Given the description of an element on the screen output the (x, y) to click on. 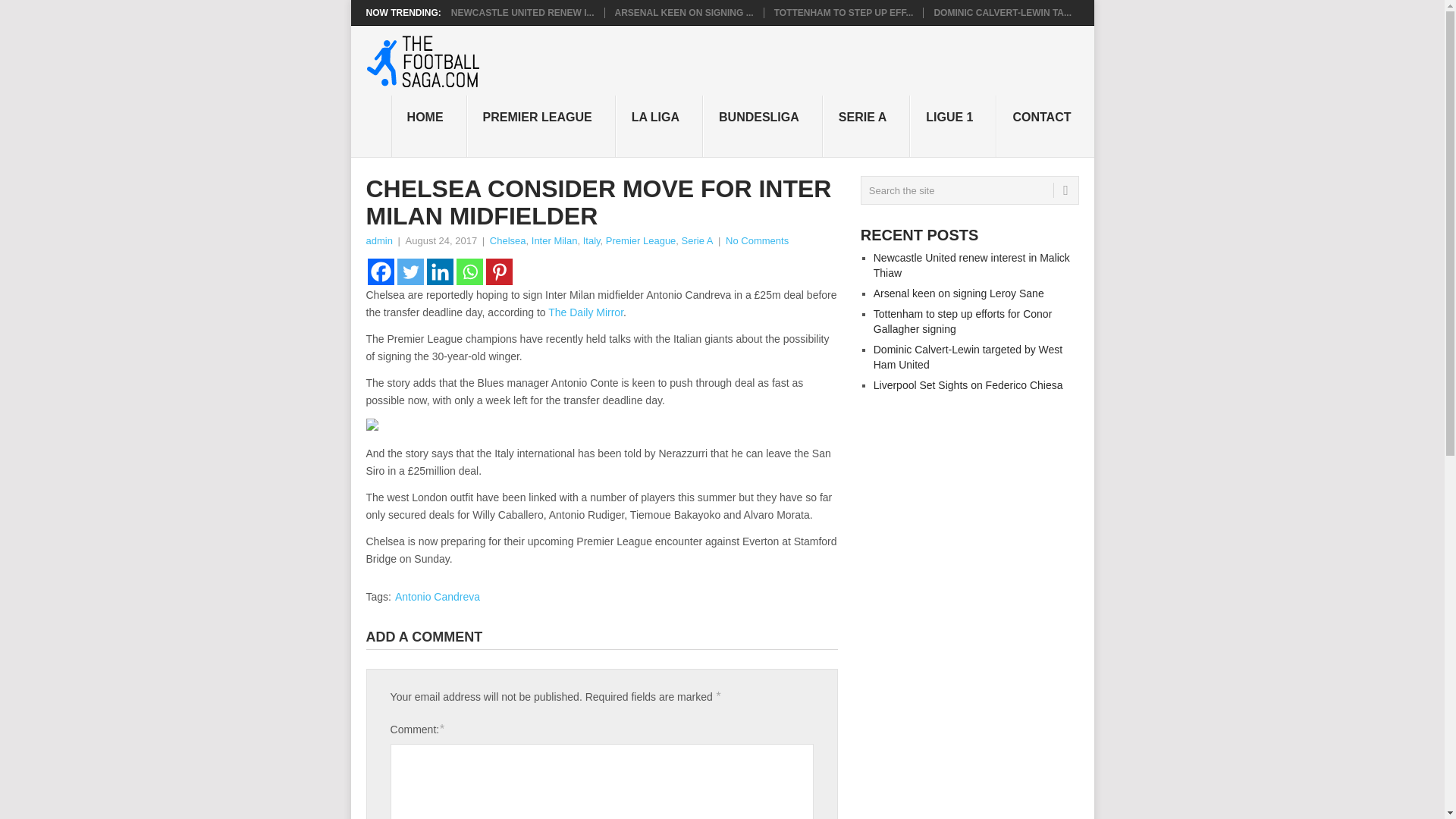
SERIE A (866, 126)
Italy (591, 240)
TOTTENHAM TO STEP UP EFF... (844, 12)
LIGUE 1 (952, 126)
ARSENAL KEEN ON SIGNING ... (683, 12)
BUNDESLIGA (762, 126)
Chelsea (507, 240)
Posts by admin (378, 240)
Tottenham to step up efforts for Conor Gallagher signing (844, 12)
Serie A (697, 240)
